Given the description of an element on the screen output the (x, y) to click on. 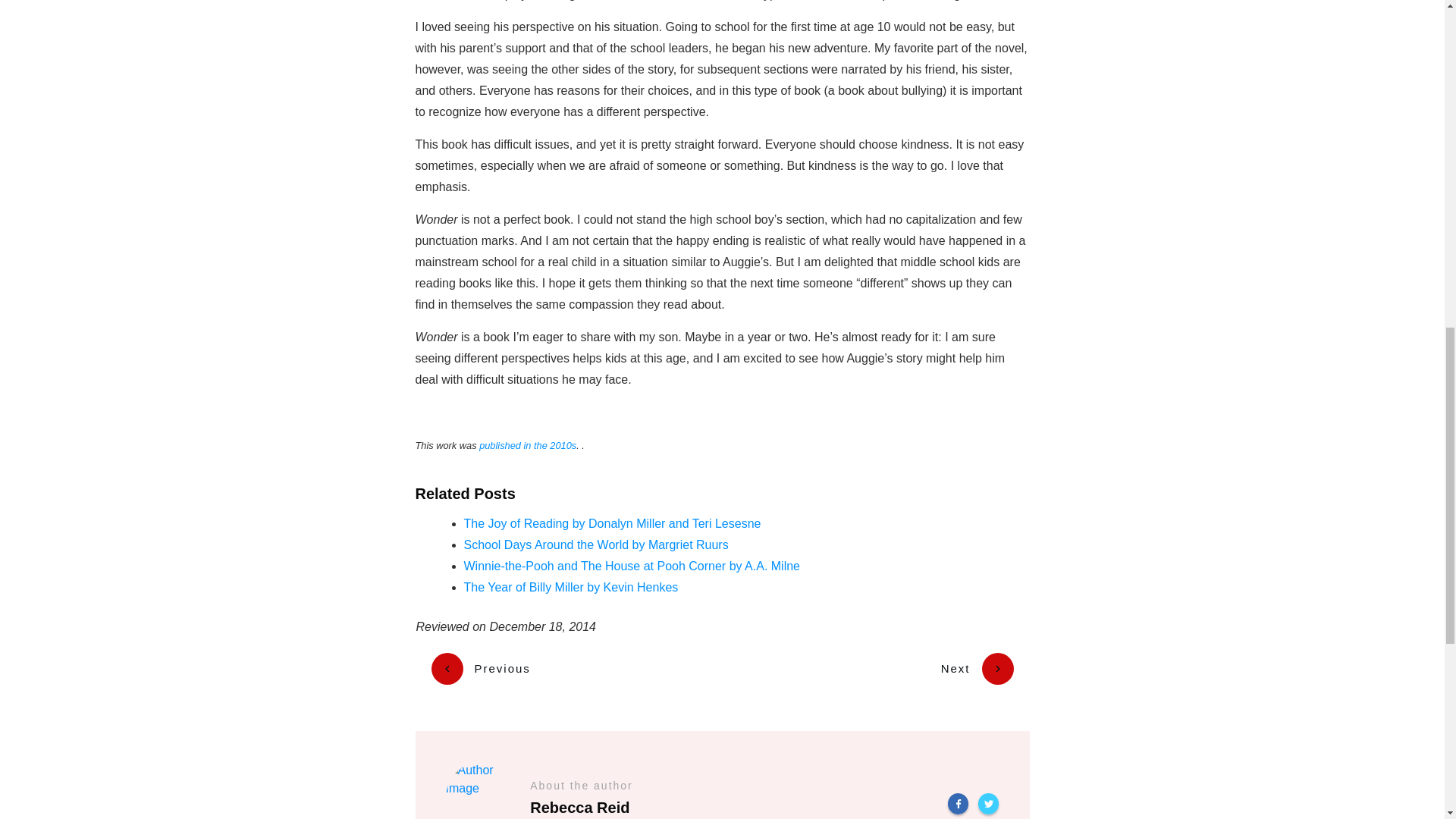
published in the 2010s (527, 445)
